Given the description of an element on the screen output the (x, y) to click on. 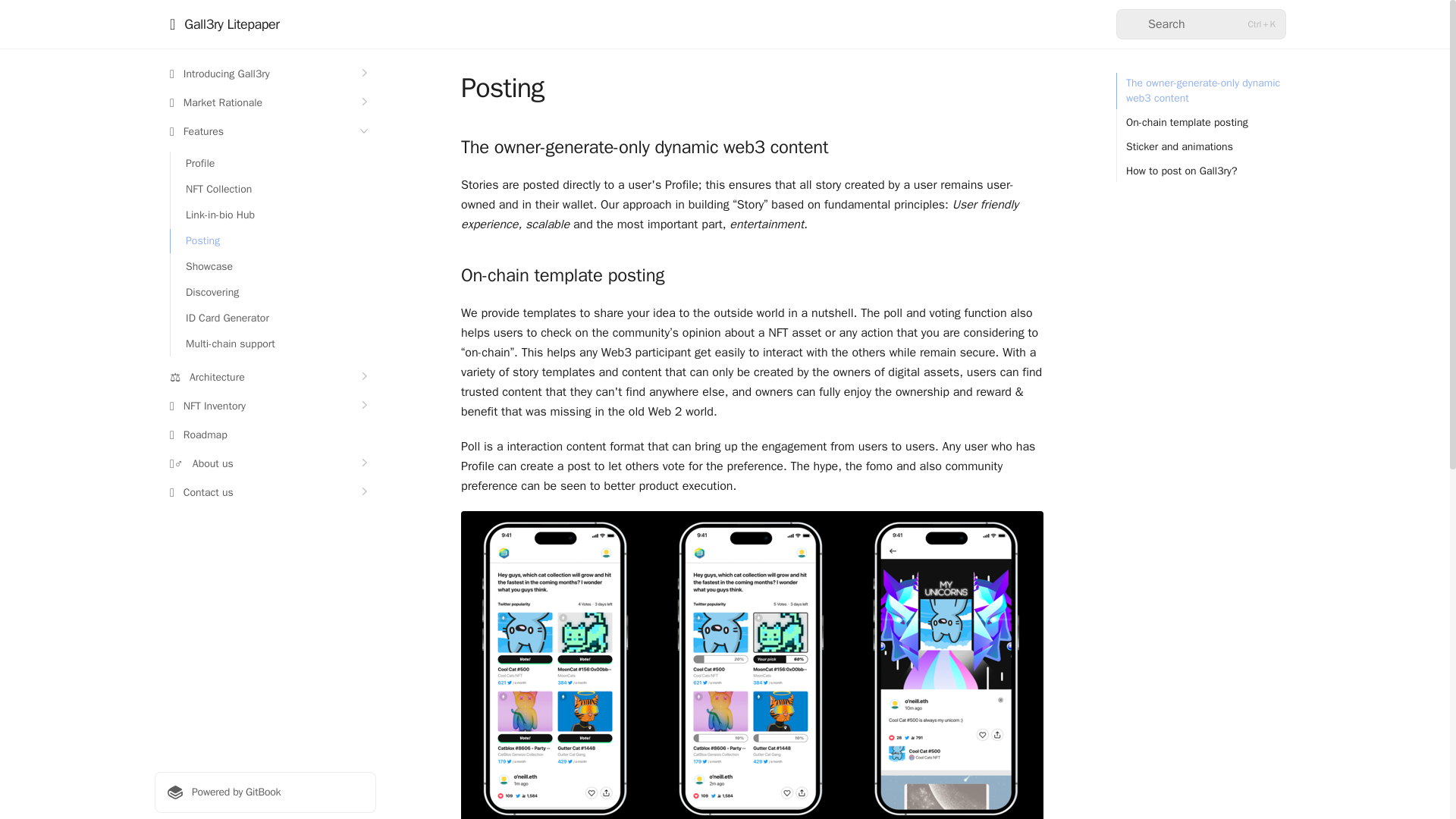
Posting (272, 241)
ID Card Generator (272, 318)
Showcase (272, 266)
NFT Collection (272, 189)
Profile (272, 163)
Link-in-bio Hub (272, 215)
Multi-chain support (272, 344)
Powered by GitBook (264, 792)
Discovering (272, 292)
